Given the description of an element on the screen output the (x, y) to click on. 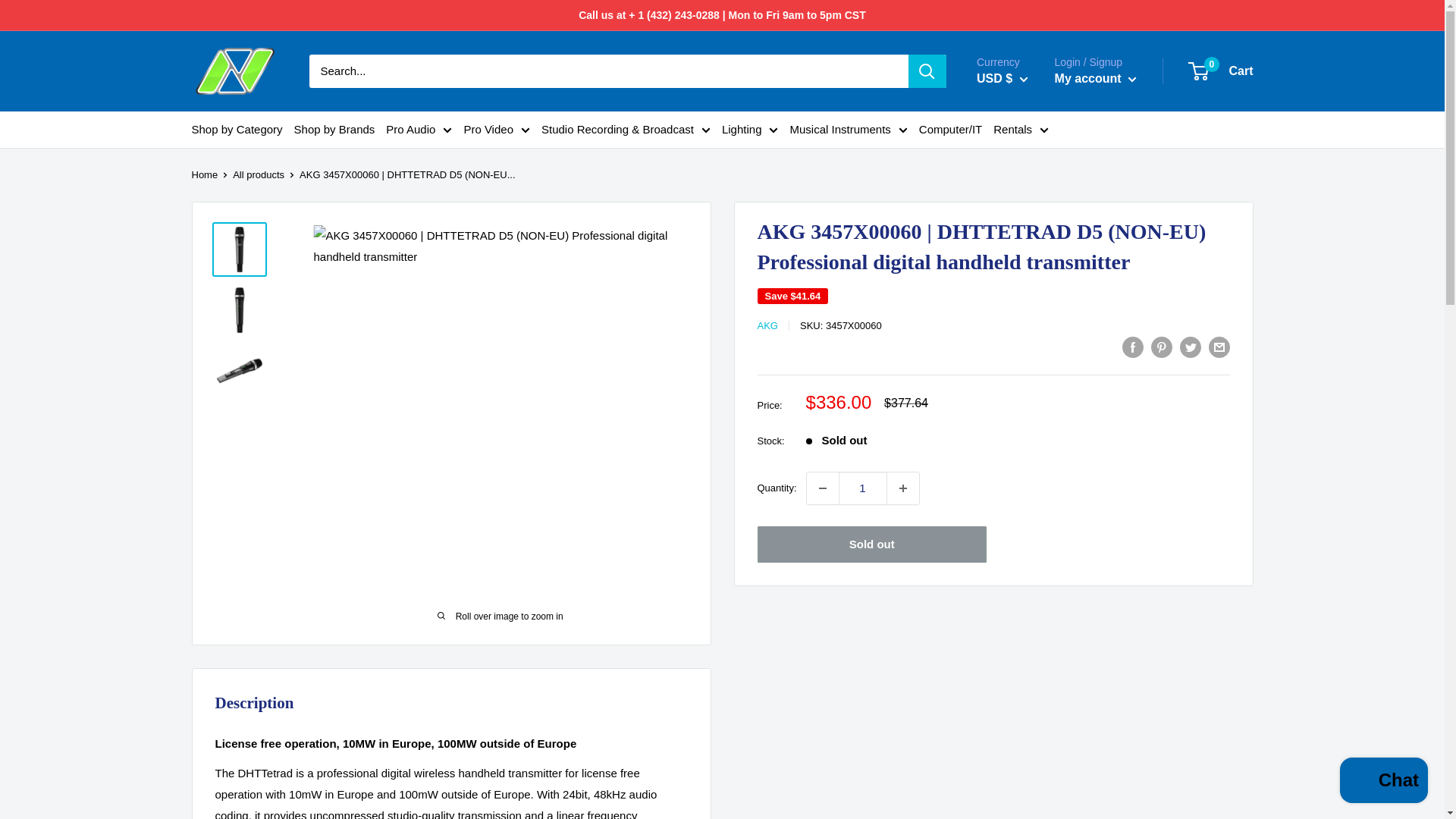
1 (862, 488)
Increase quantity by 1 (902, 488)
Decrease quantity by 1 (822, 488)
Shopify online store chat (1383, 781)
